Given the description of an element on the screen output the (x, y) to click on. 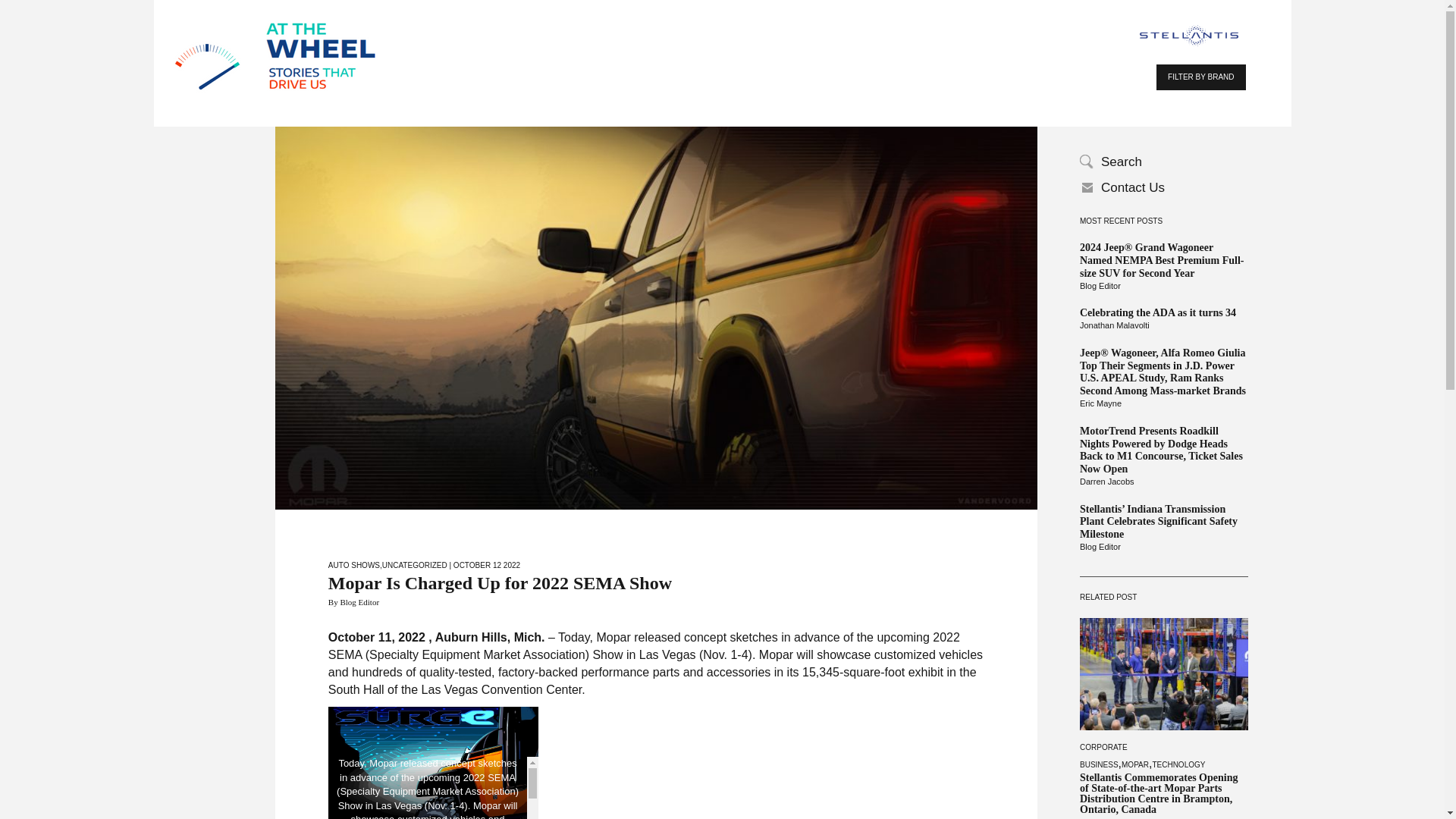
Search (1163, 162)
Blog Editor (1163, 286)
MOPAR (1134, 764)
Darren Jacobs (1163, 481)
TECHNOLOGY (1178, 764)
CORPORATE BUSINESS (1103, 755)
FILTER BY BRAND (1200, 77)
Celebrating the ADA as it turns 34 (1163, 313)
Blog Editor (1163, 547)
Jonathan Malavolti (1163, 326)
Eric Mayne (1163, 404)
Contact Us (1163, 187)
